Given the description of an element on the screen output the (x, y) to click on. 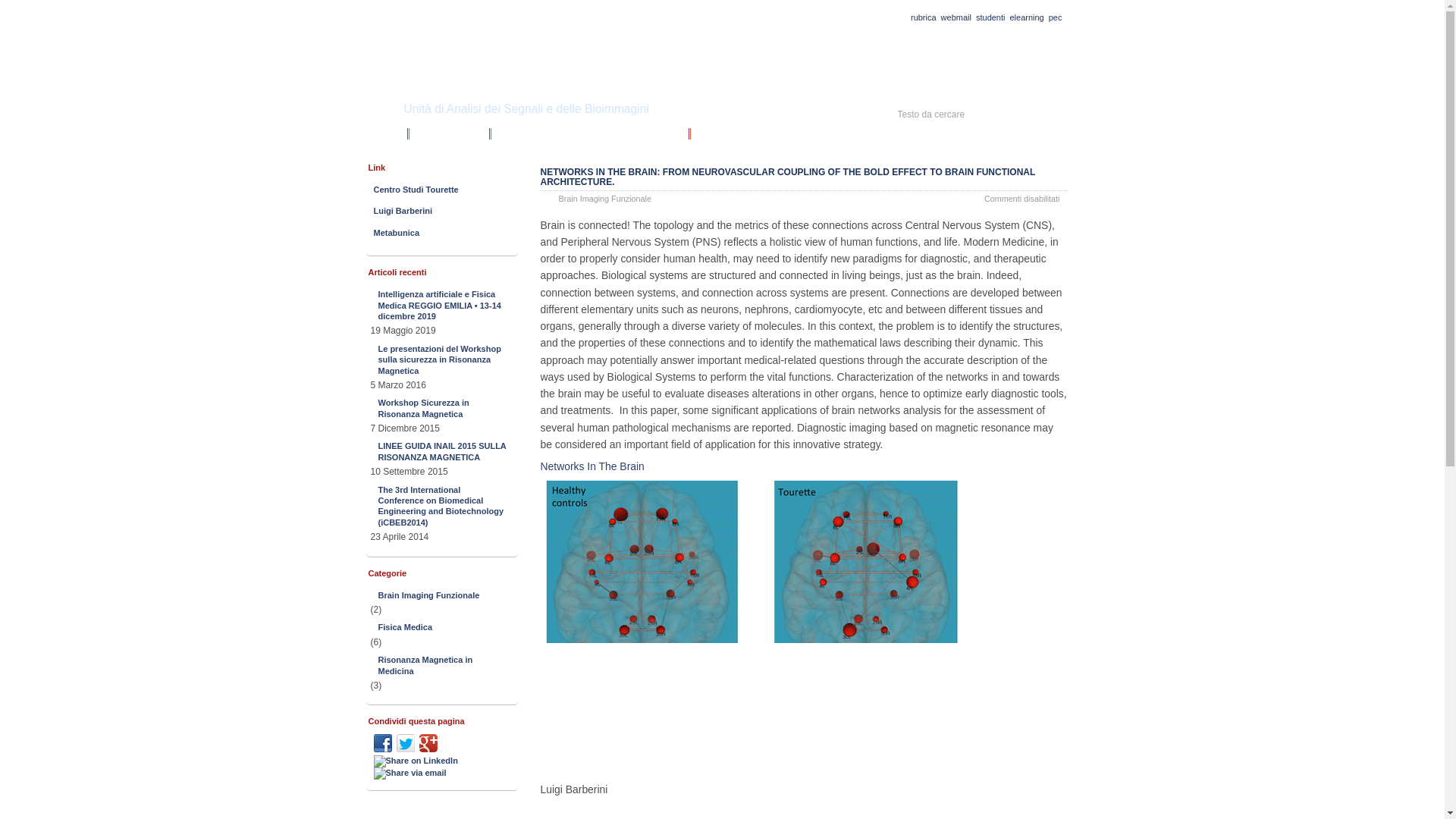
LINEE GUIDA INAIL 2015 SULLA RISONANZA MAGNETICA (442, 451)
Testo da cercare (971, 114)
Testo da cercare (971, 114)
Centro Studi Tourette (440, 189)
Home (383, 129)
Metabunica (440, 232)
he Brain (625, 466)
elearning (1026, 17)
rubrica (923, 17)
uffici e personale: cerca i recapiti nella rubrica online (923, 17)
Fisica Medica (442, 627)
Sicurezza Laser (445, 129)
Share on LinkedIn (416, 761)
